Given the description of an element on the screen output the (x, y) to click on. 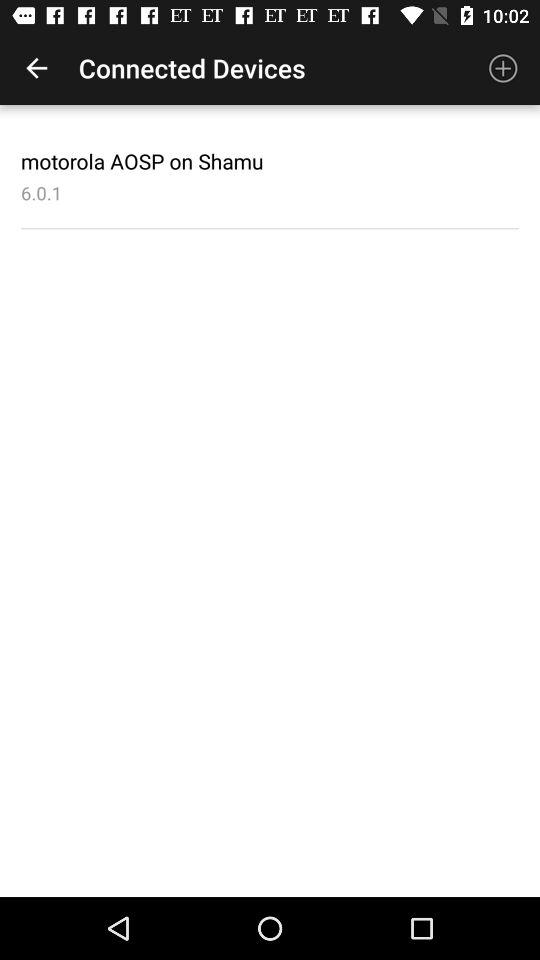
turn on icon to the left of the connected devices app (36, 68)
